Given the description of an element on the screen output the (x, y) to click on. 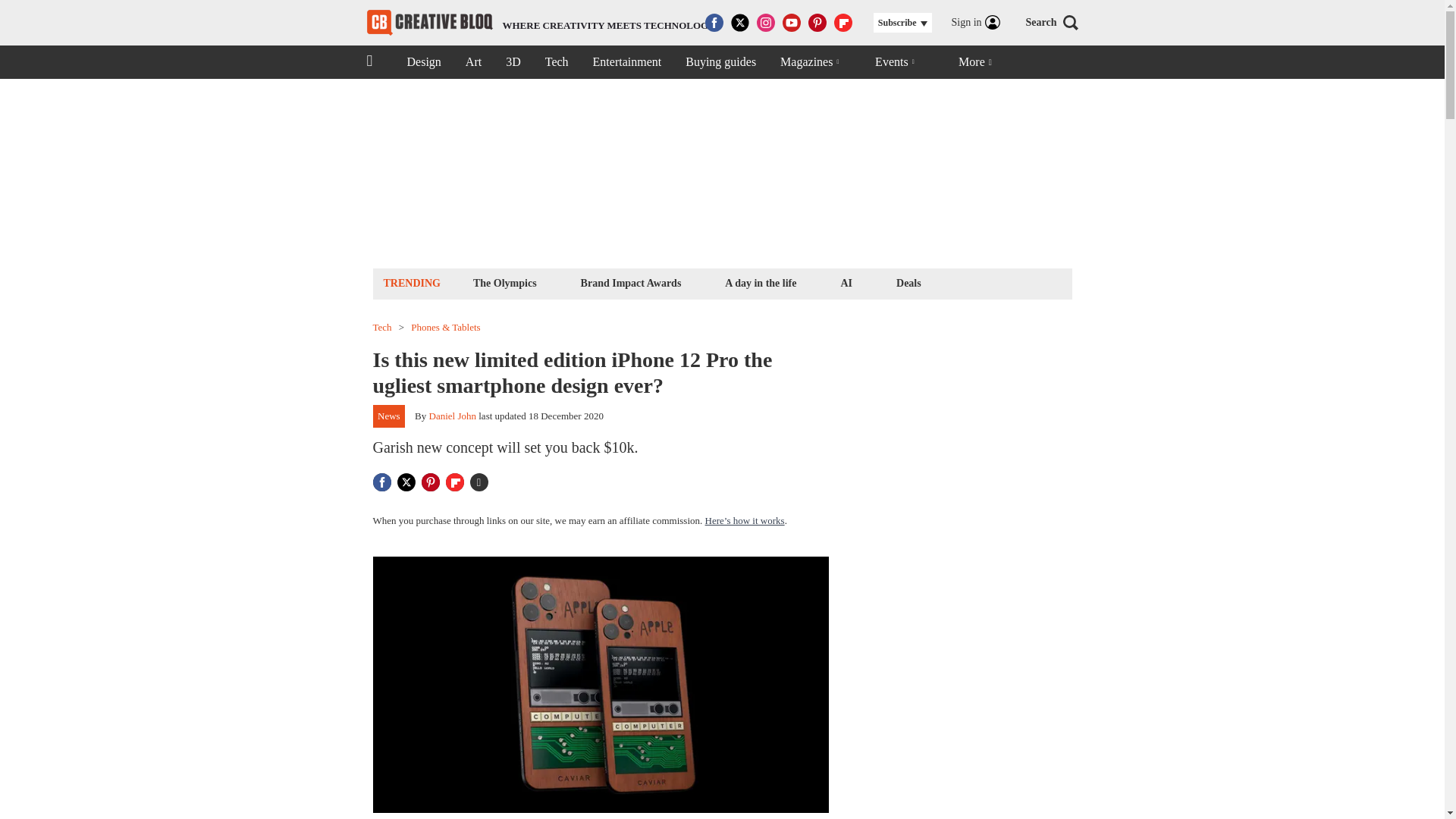
The Olympics (504, 282)
News (389, 415)
3D (512, 61)
Daniel John (452, 415)
Design (423, 61)
A day in the life (760, 282)
AI (845, 282)
Entertainment (541, 22)
Tech (627, 61)
